Given the description of an element on the screen output the (x, y) to click on. 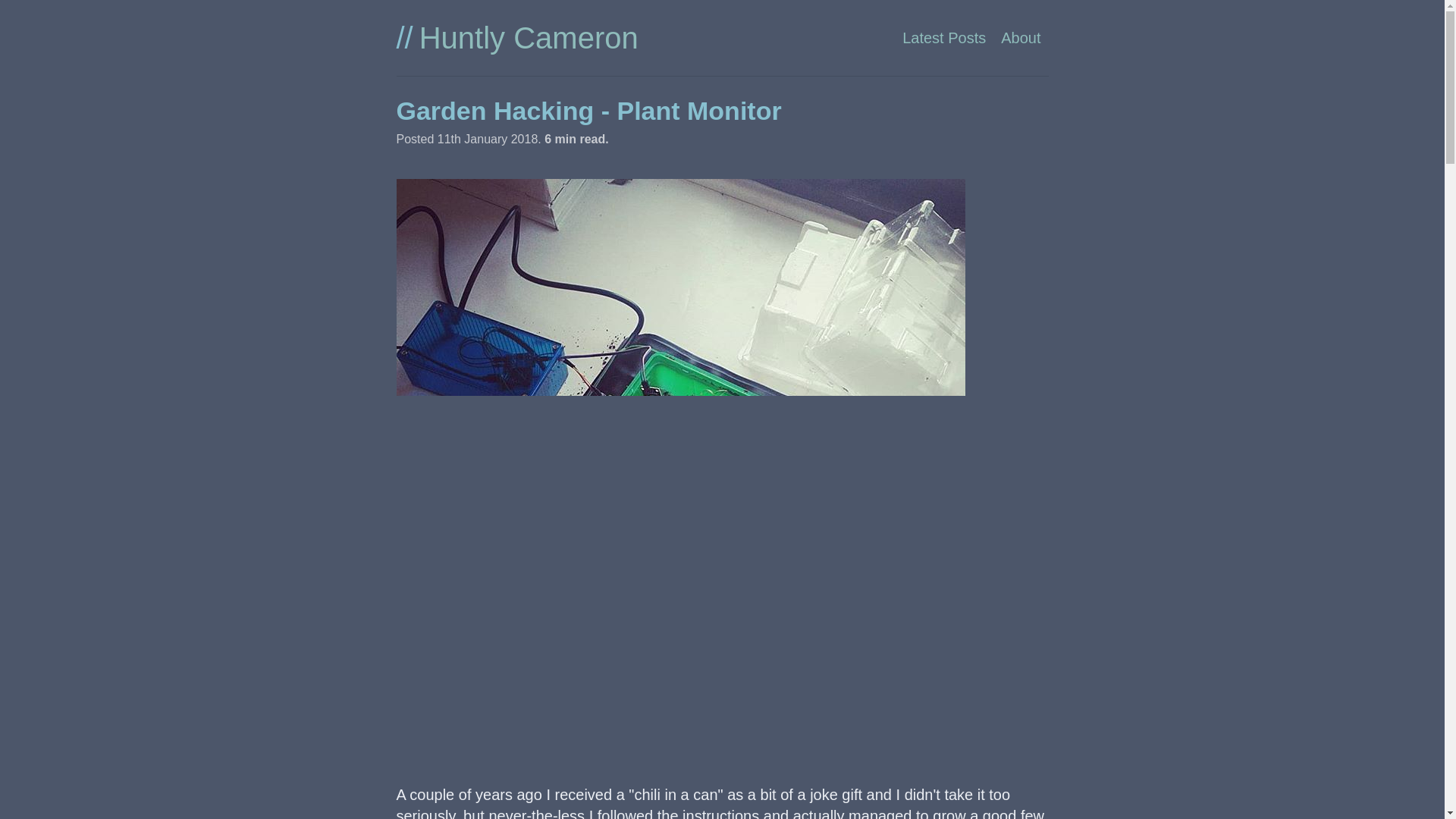
Latest Posts (943, 37)
About (1020, 37)
